Given the description of an element on the screen output the (x, y) to click on. 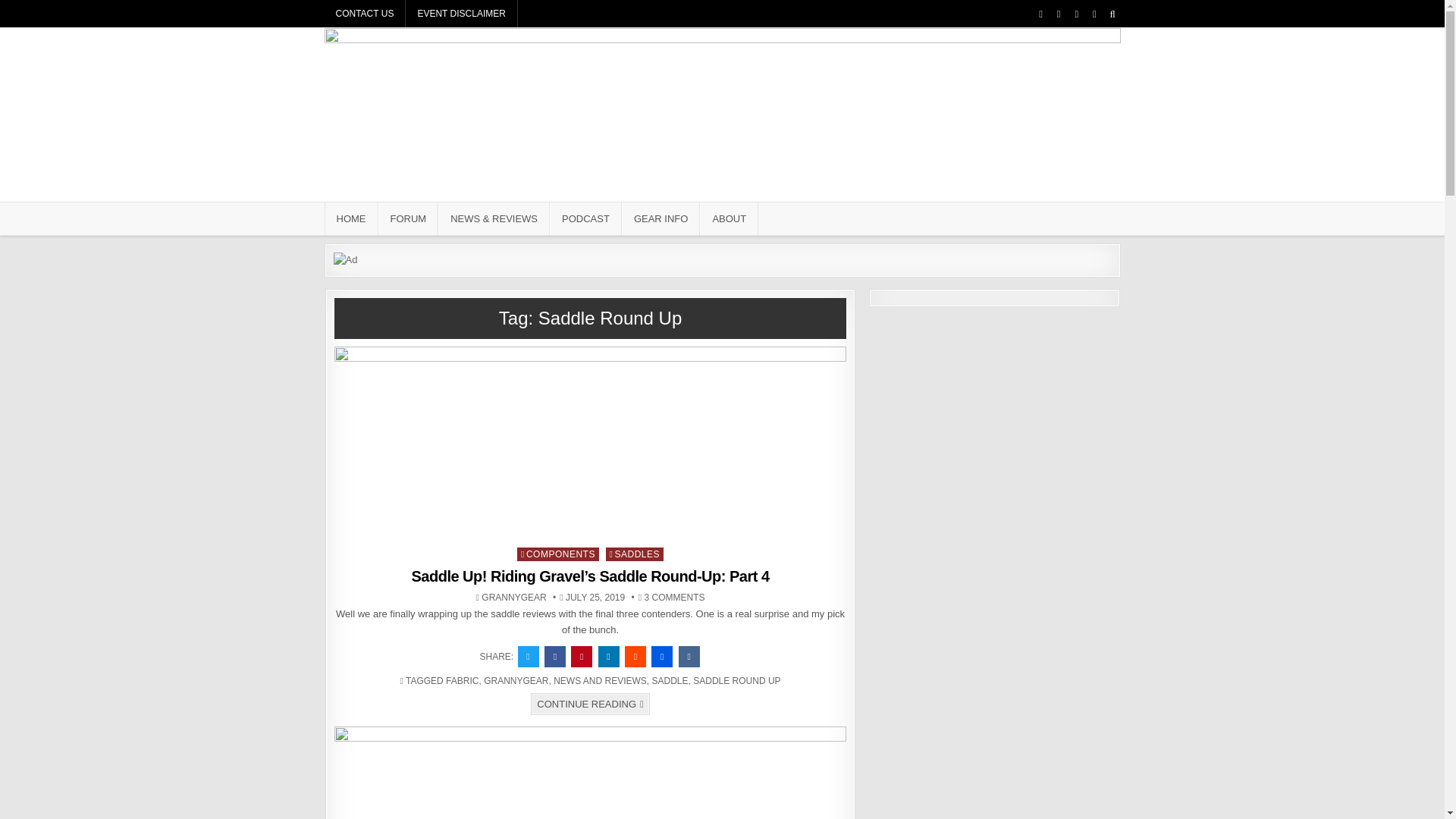
SADDLE ROUND UP (736, 680)
Tweet This! (528, 656)
GRANNYGEAR (513, 596)
PODCAST (585, 218)
Share this on Linkedin (609, 656)
Facebook (1040, 13)
GRANNYGEAR (515, 680)
SADDLE (670, 680)
FABRIC (462, 680)
SADDLES (634, 554)
